Given the description of an element on the screen output the (x, y) to click on. 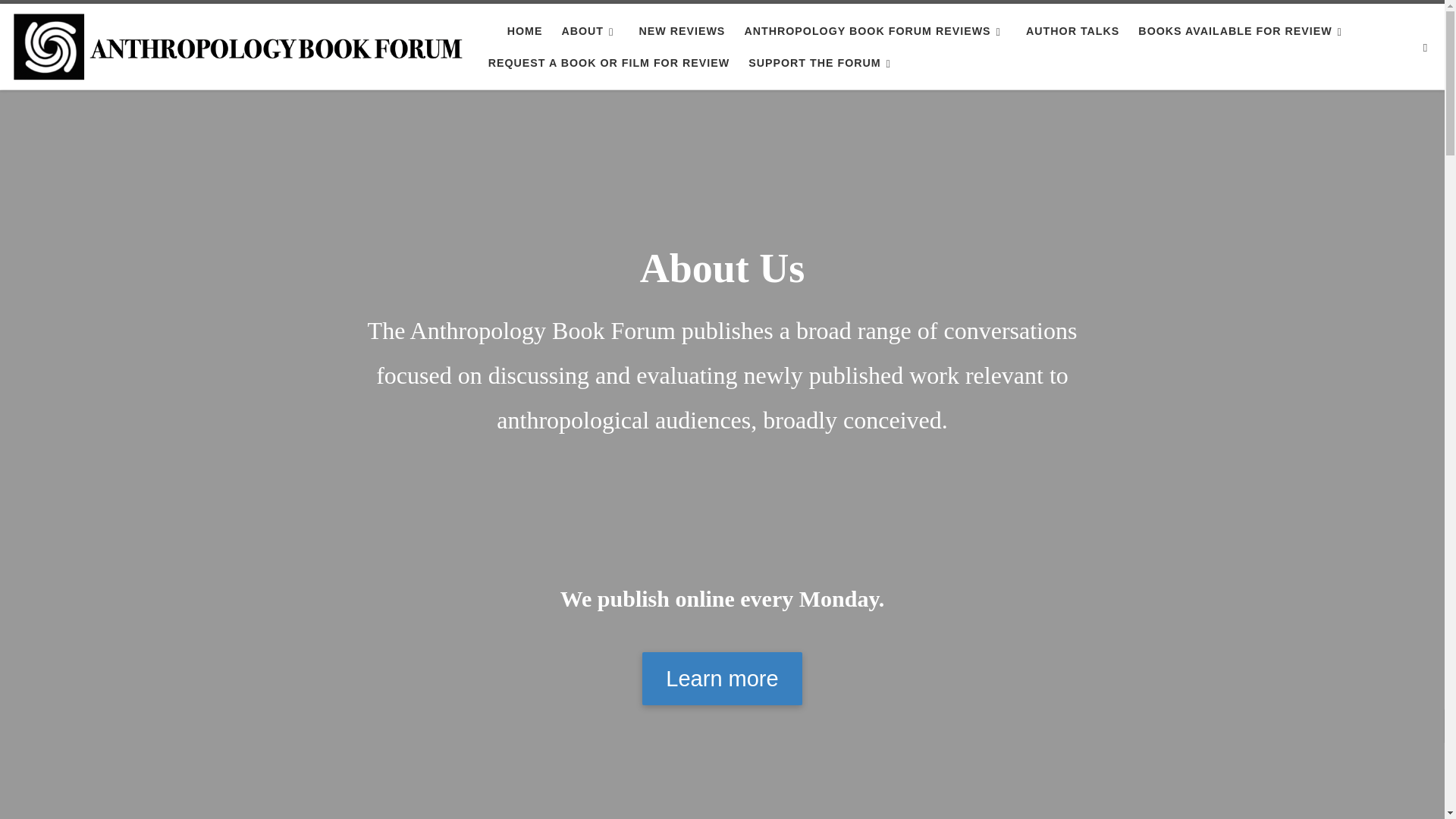
REQUEST A BOOK OR FILM FOR REVIEW (608, 62)
Skip to content (60, 20)
BOOKS AVAILABLE FOR REVIEW (1243, 30)
NEW REVIEWS (681, 30)
SUPPORT THE FORUM (822, 62)
ABOUT (590, 30)
HOME (524, 30)
AUTHOR TALKS (1073, 30)
ANTHROPOLOGY BOOK FORUM REVIEWS (875, 30)
